Given the description of an element on the screen output the (x, y) to click on. 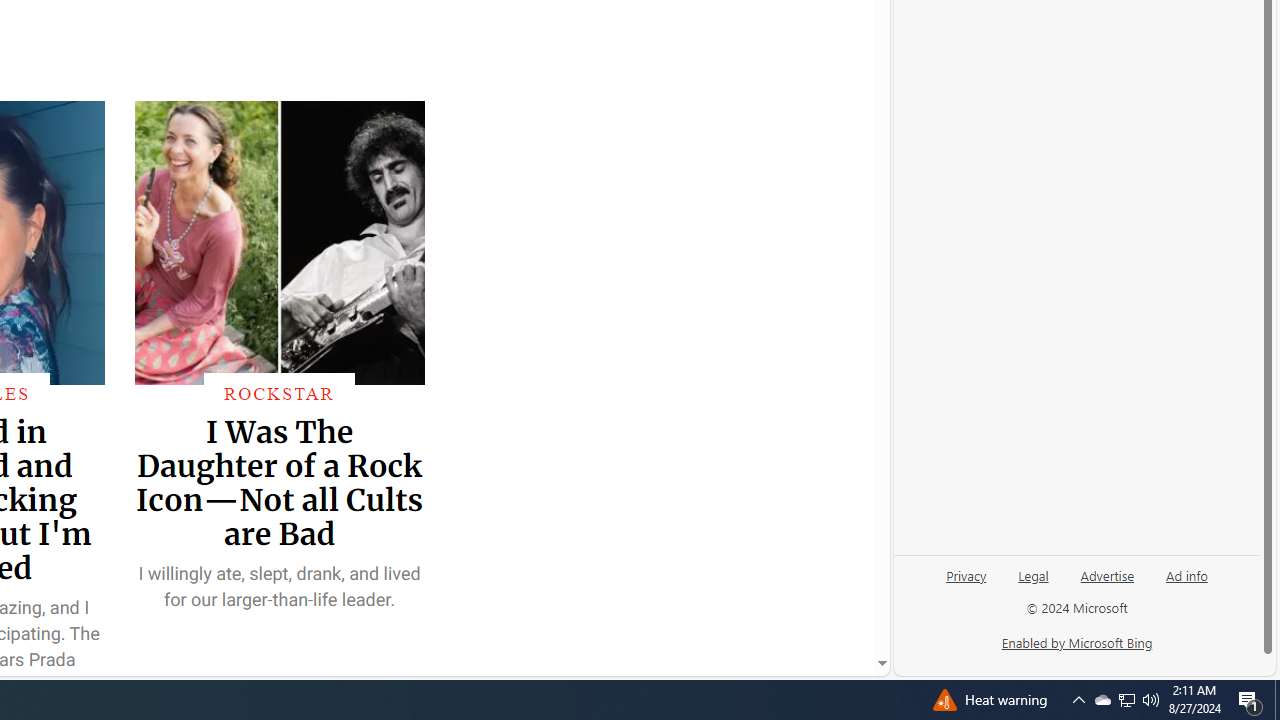
User Promoted Notification Area (1126, 699)
Ad info (1186, 583)
Legal (1033, 574)
Advertise (1106, 583)
Heat warning (989, 699)
Show desktop (1277, 699)
Advertise (1107, 574)
Privacy (965, 574)
Legal (1126, 699)
Q2790: 100% (1033, 583)
Notification Chevron (1151, 699)
